Given the description of an element on the screen output the (x, y) to click on. 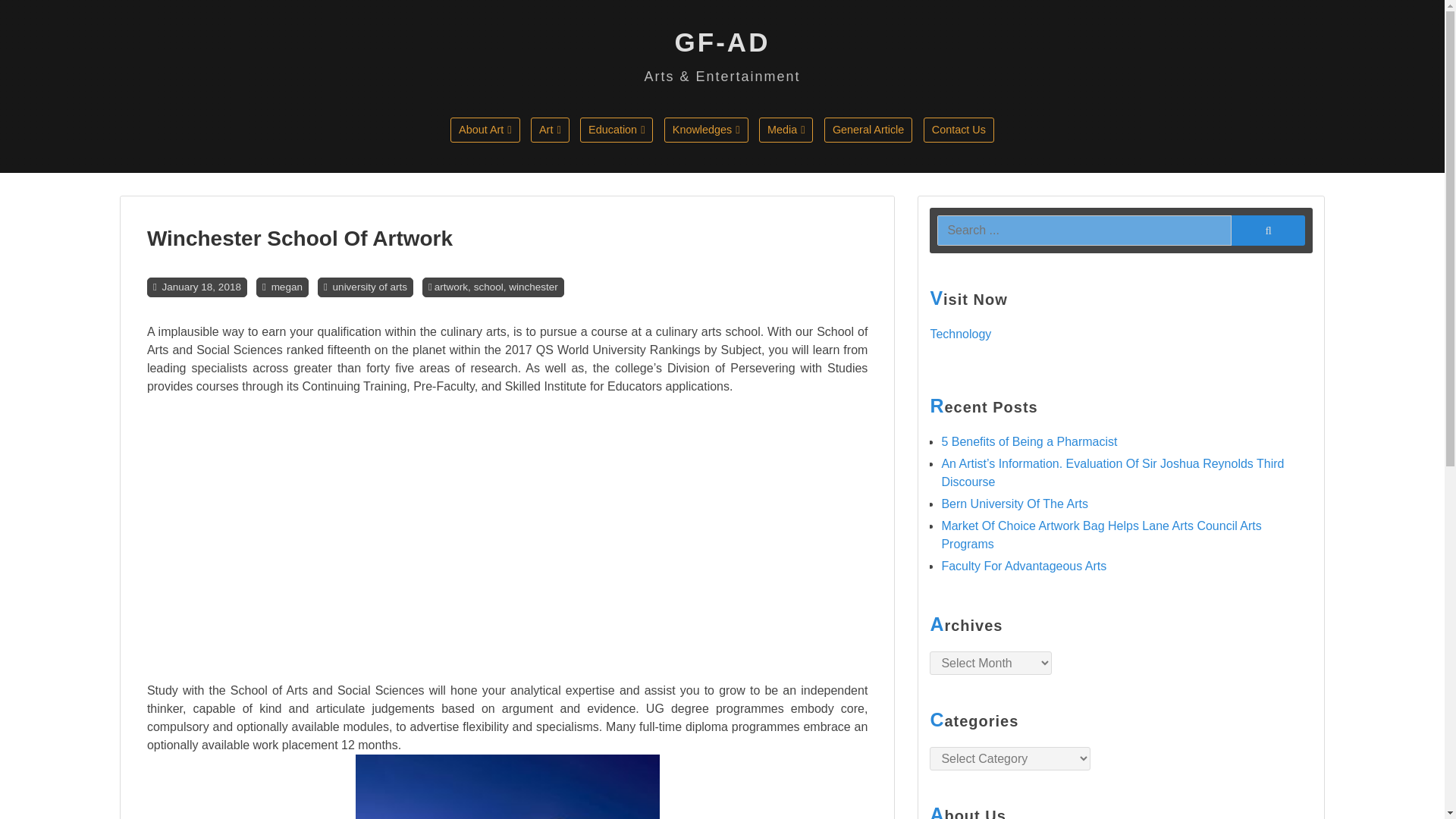
General Article (868, 129)
arts and business (736, 162)
Knowledges (705, 129)
Media (785, 129)
Search (1267, 228)
winchester (532, 286)
Contact Us (958, 129)
arts and learning (831, 162)
articles about art (522, 162)
5 Benefits of Being a Pharmacist (1028, 440)
arts and communication (602, 162)
About Art (484, 129)
Education (615, 129)
university of arts (370, 286)
